Given the description of an element on the screen output the (x, y) to click on. 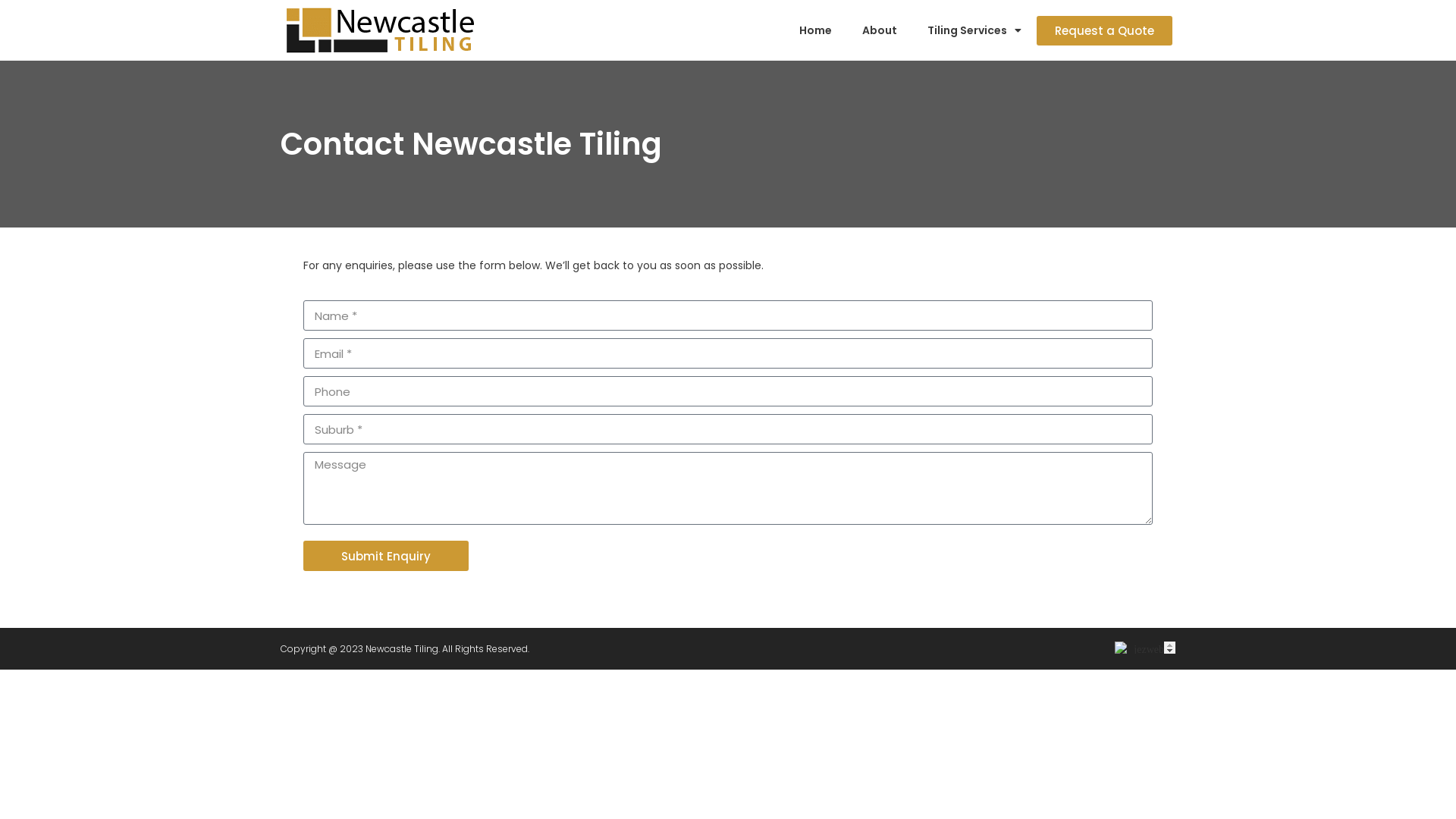
Submit Enquiry Element type: text (385, 555)
Tiling Services Element type: text (974, 29)
Request a Quote Element type: text (1104, 29)
Home Element type: text (815, 29)
About Element type: text (879, 29)
